Given the description of an element on the screen output the (x, y) to click on. 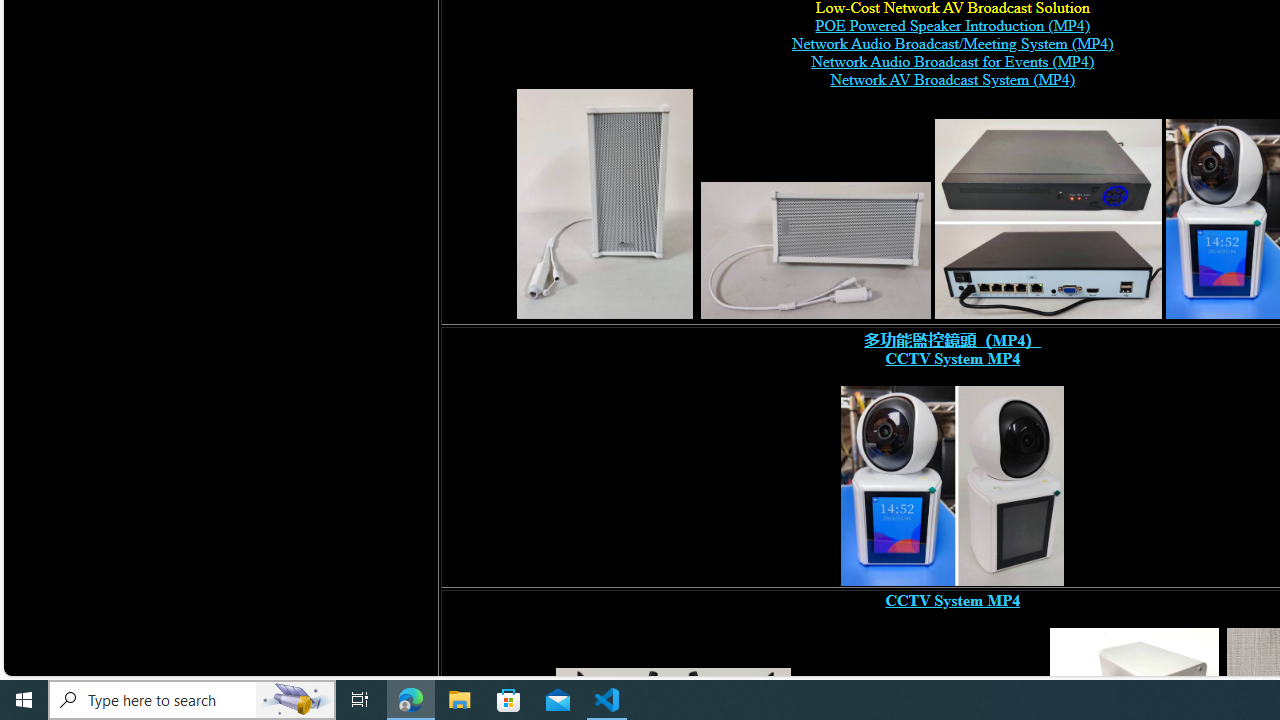
POE switch, digital network video recorder, (1048, 218)
wireless network camera, (952, 485)
Network AV Broadcast System (MP4) (952, 80)
POE Powered Speaker Introduction (MP4) (952, 26)
Network Audio Broadcast for Events (MP4)  (952, 62)
Network Audio Broadcast/Meeting System (MP4) (952, 44)
CCTV System MP4 (952, 600)
